Given the description of an element on the screen output the (x, y) to click on. 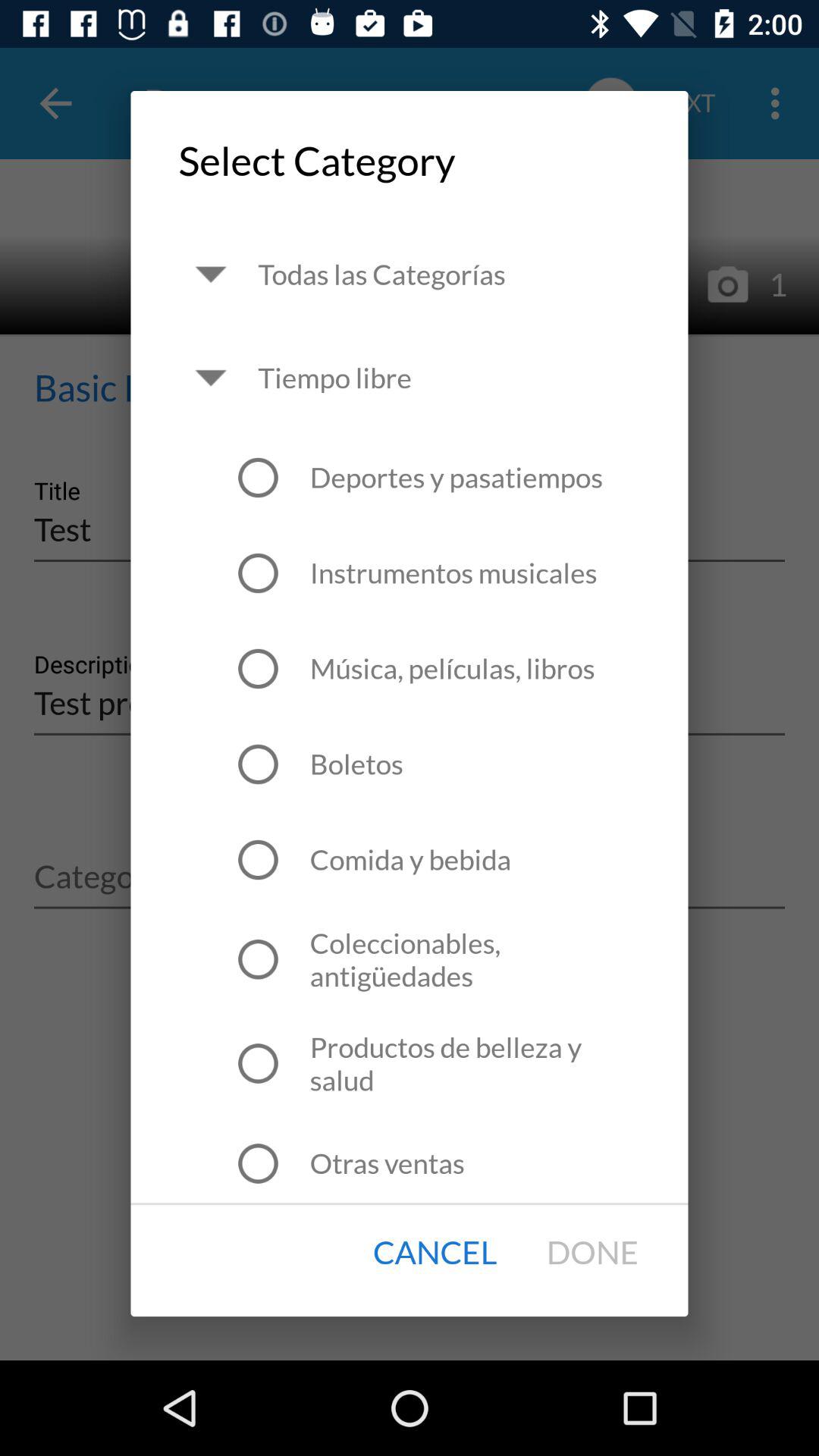
click boletos icon (356, 763)
